Given the description of an element on the screen output the (x, y) to click on. 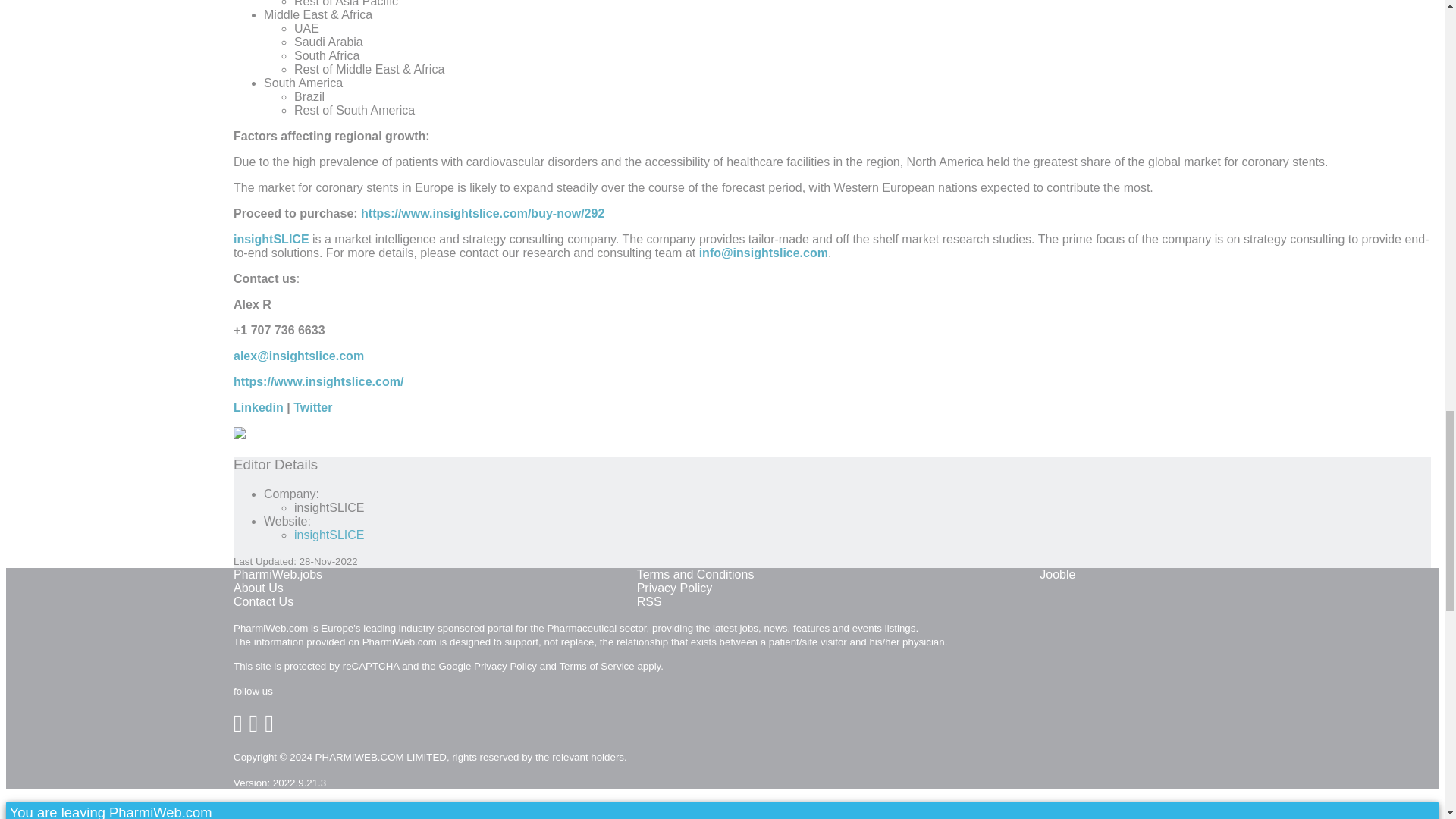
Linkedin (257, 407)
Terms and Conditions (695, 574)
Privacy Policy (505, 665)
Terms of Service (596, 665)
Contact Us (263, 601)
Privacy Policy (675, 587)
About Us (257, 587)
Jooble (1057, 574)
RSS (649, 601)
Twitter (312, 407)
PharmiWeb.jobs (276, 574)
insightSLICE (329, 534)
insightSLICE (270, 238)
